Given the description of an element on the screen output the (x, y) to click on. 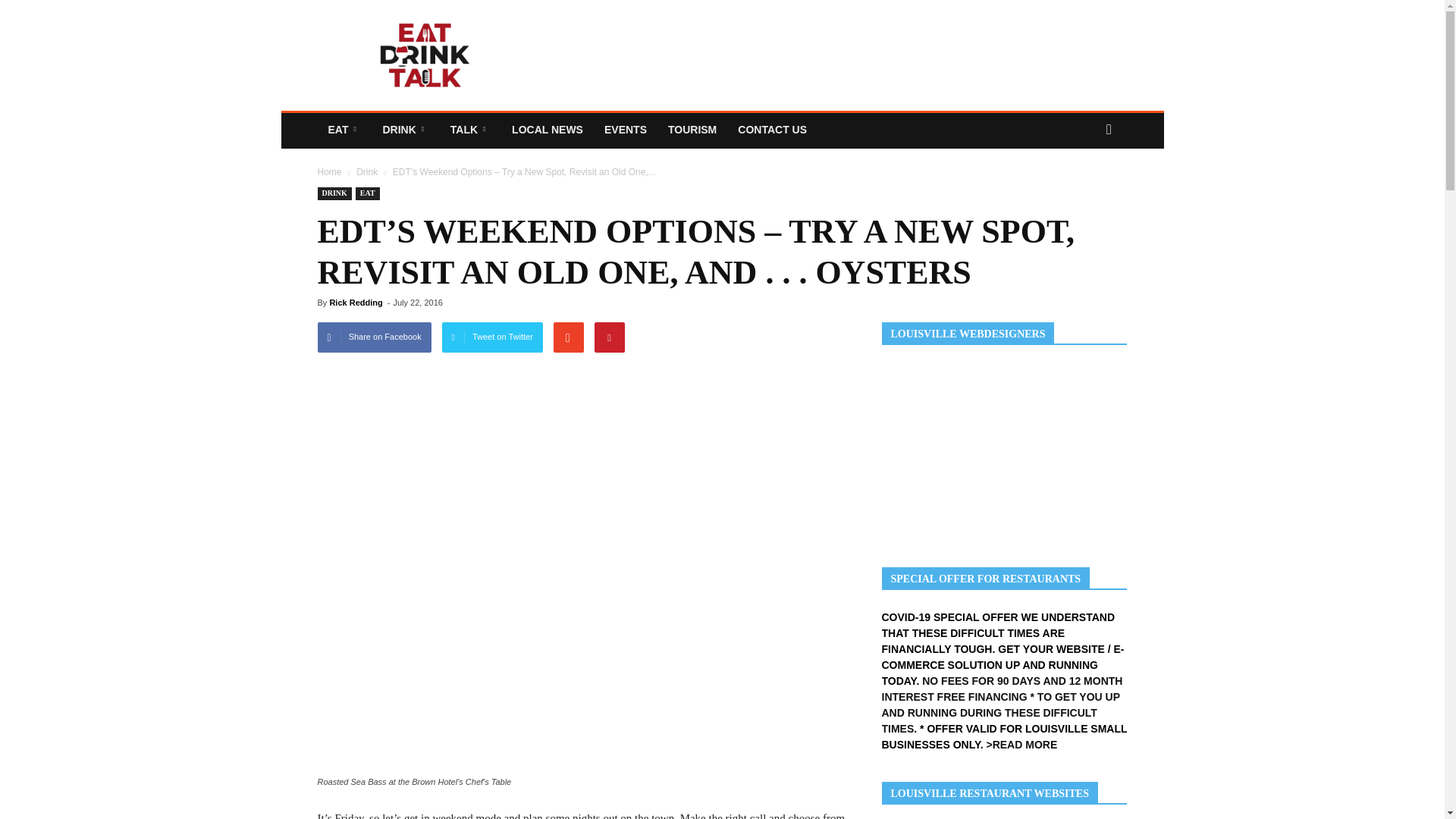
EAT (344, 129)
